Given the description of an element on the screen output the (x, y) to click on. 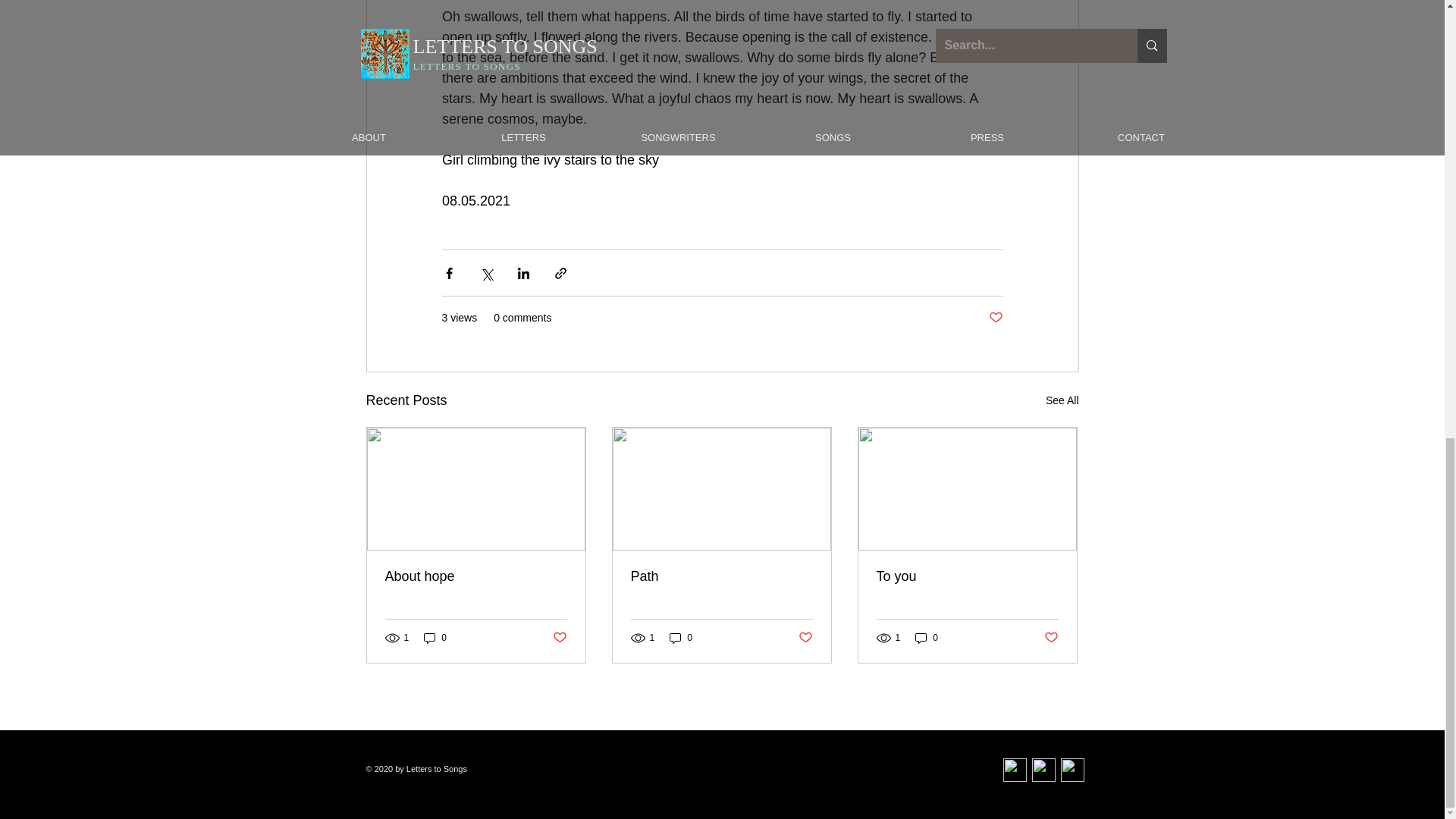
Post not marked as liked (804, 637)
0 (926, 637)
Path (721, 576)
About hope (476, 576)
0 (435, 637)
Post not marked as liked (995, 317)
See All (1061, 400)
Post not marked as liked (1050, 637)
Post not marked as liked (558, 637)
To you (967, 576)
